Given the description of an element on the screen output the (x, y) to click on. 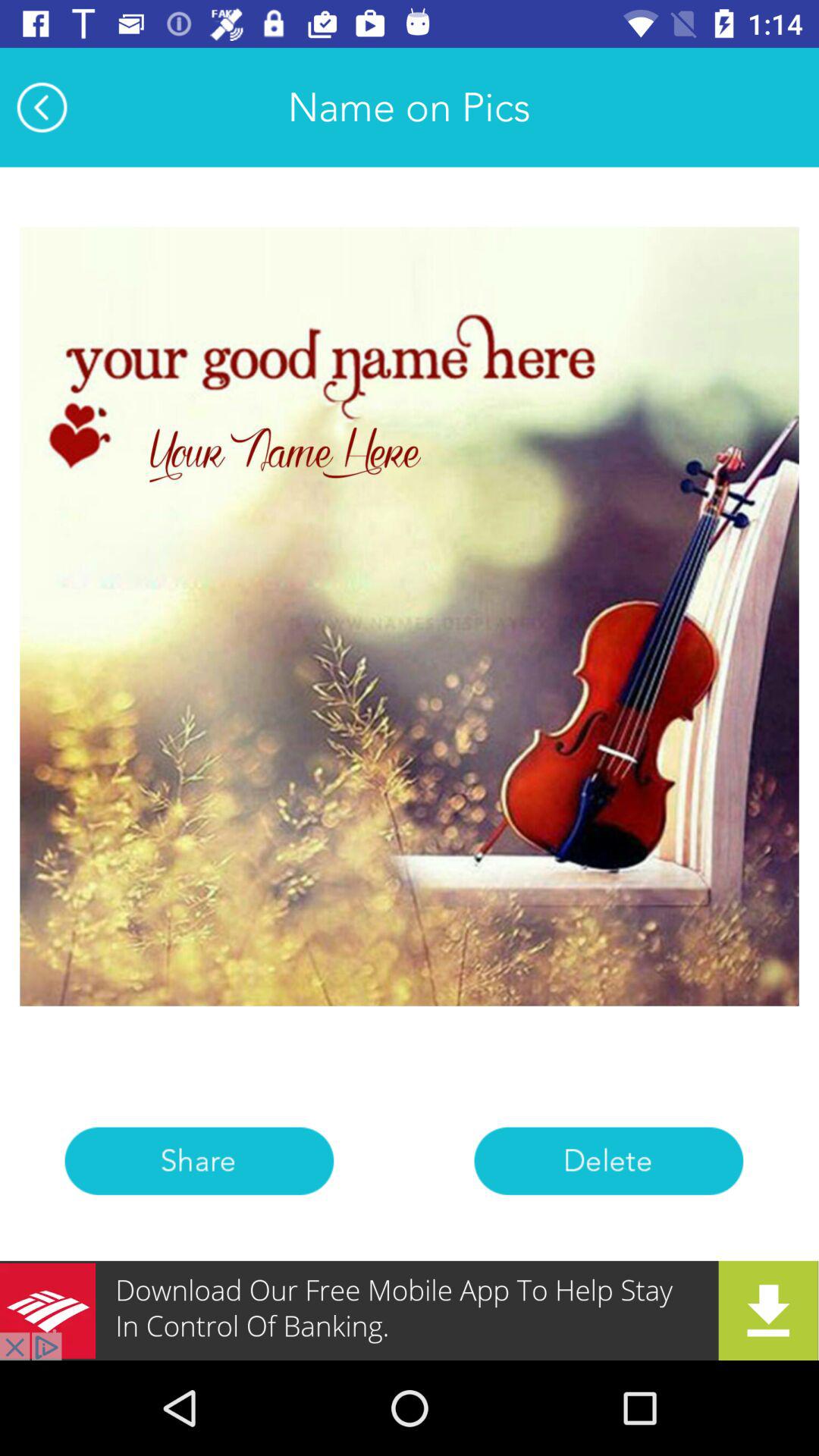
advertisement botton (409, 1310)
